Given the description of an element on the screen output the (x, y) to click on. 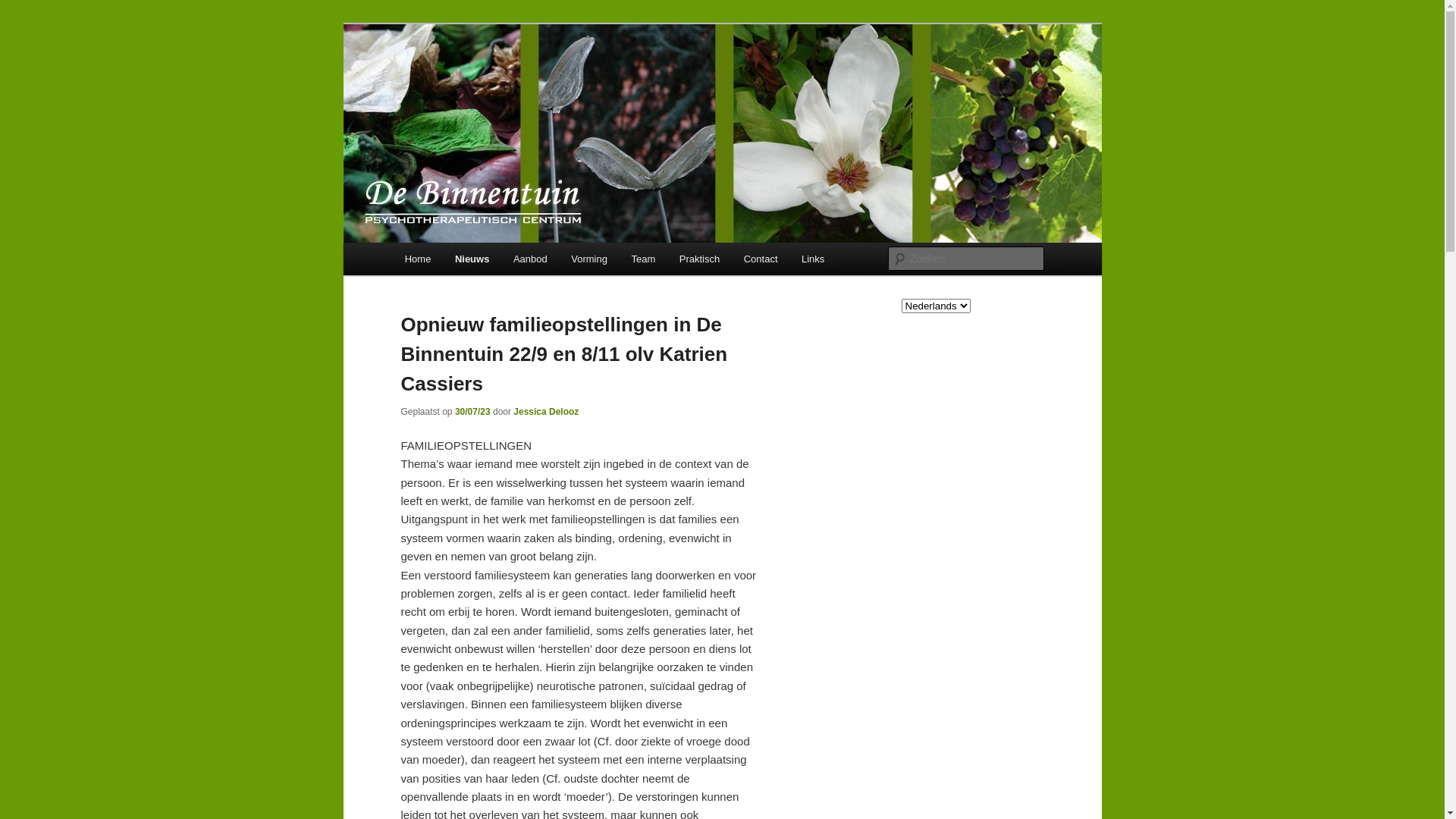
Nieuws Element type: text (471, 258)
Spring naar de primaire inhoud Element type: text (491, 261)
Spring naar de secundaire inhoud Element type: text (499, 261)
De Binnentuin Element type: text (477, 78)
Team Element type: text (643, 258)
Vorming Element type: text (588, 258)
Home Element type: text (417, 258)
30/07/23 Element type: text (472, 411)
Links Element type: text (812, 258)
Praktisch Element type: text (699, 258)
Jessica Delooz Element type: text (545, 411)
Aanbod Element type: text (529, 258)
Zoeken Element type: text (25, 8)
Contact Element type: text (760, 258)
